Given the description of an element on the screen output the (x, y) to click on. 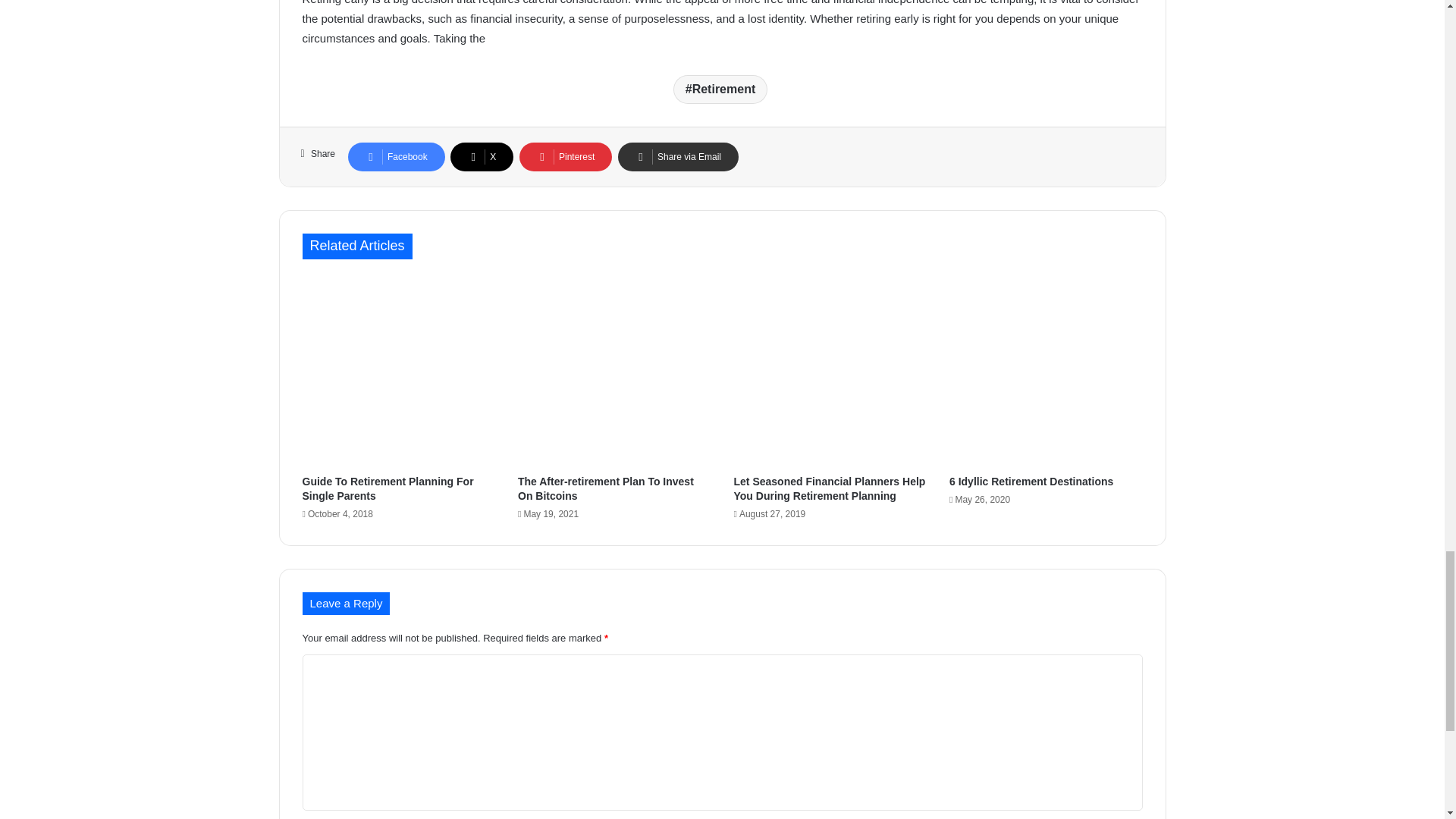
Facebook (396, 156)
X (481, 156)
Share via Email (677, 156)
Pinterest (565, 156)
